Given the description of an element on the screen output the (x, y) to click on. 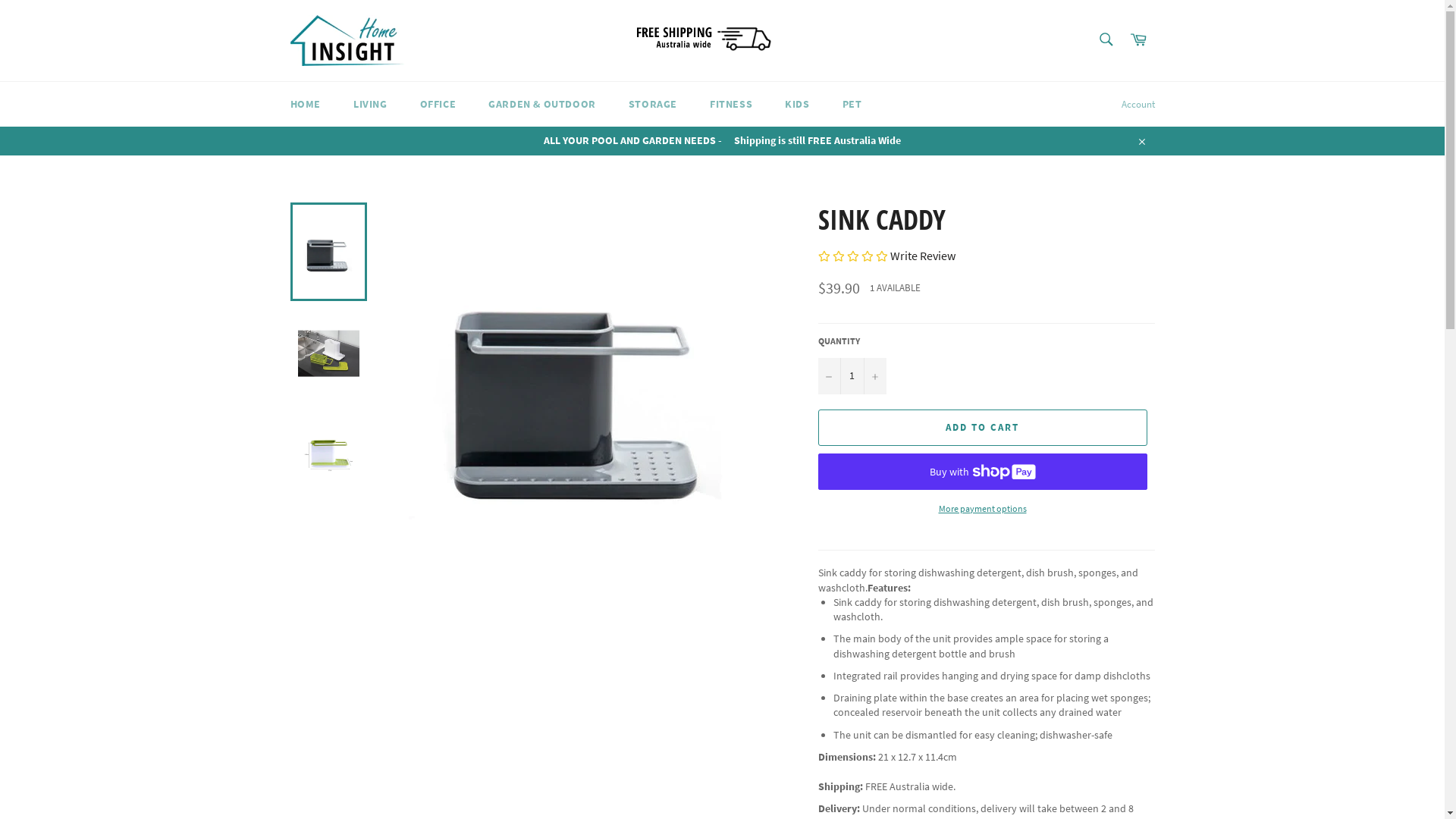
FITNESS Element type: text (730, 103)
Cart Element type: text (1138, 40)
GARDEN & OUTDOOR Element type: text (542, 103)
STORAGE Element type: text (652, 103)
OFFICE Element type: text (437, 103)
More payment options Element type: text (981, 509)
+ Element type: text (873, 375)
KIDS Element type: text (796, 103)
LIVING Element type: text (370, 103)
Search Element type: text (1105, 39)
ADD TO CART Element type: text (981, 427)
Close Element type: text (1140, 140)
Account Element type: text (1137, 104)
PET Element type: text (852, 103)
HOME Element type: text (304, 103)
